Given the description of an element on the screen output the (x, y) to click on. 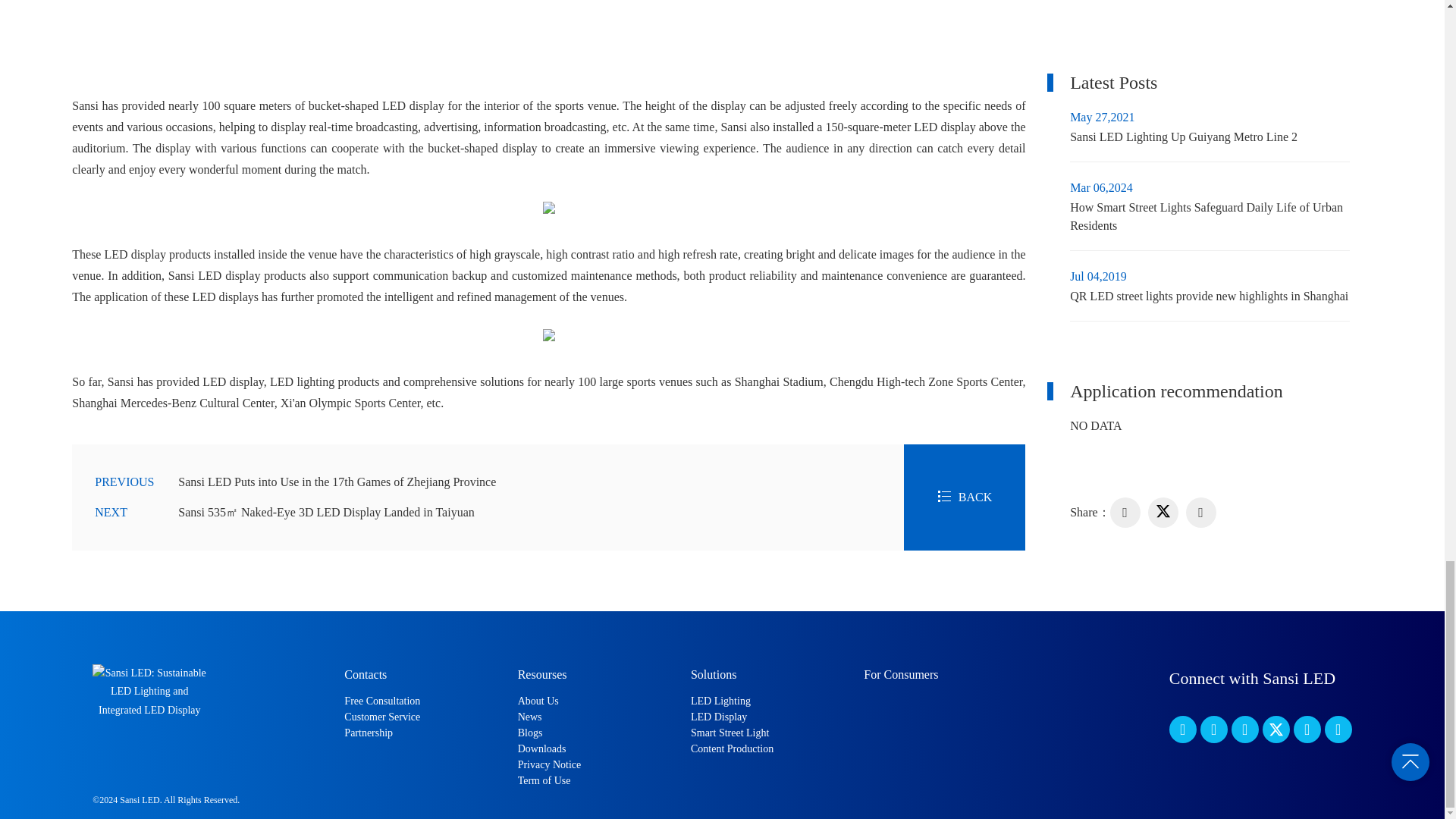
BACK (964, 497)
